Given the description of an element on the screen output the (x, y) to click on. 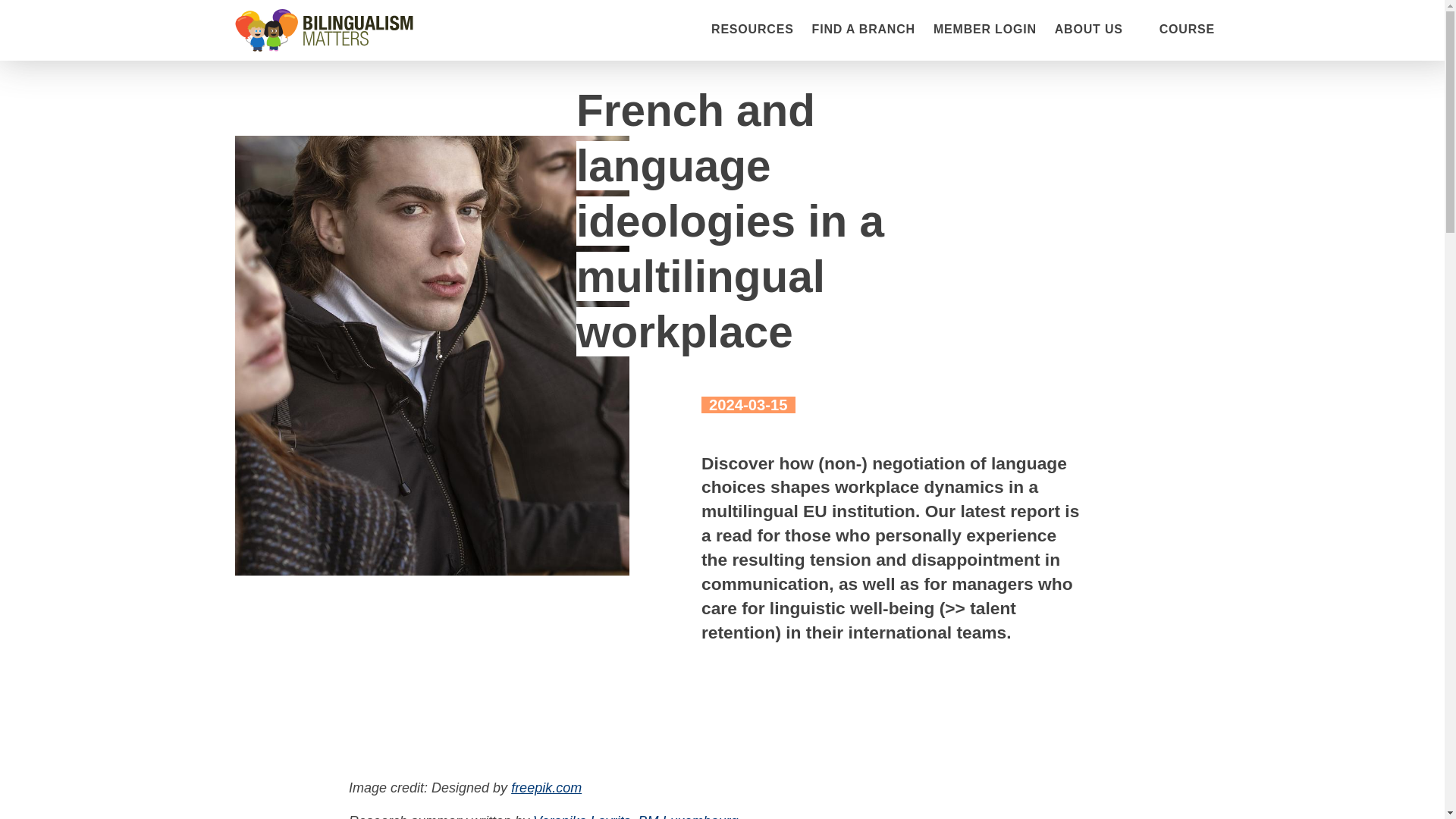
RESOURCES (751, 29)
Veronika Lovrits (581, 816)
BM Luxembourg (687, 816)
Go to Bilingualism Matters homepage (323, 30)
MEMBER LOGIN (984, 29)
freepik.com (545, 787)
COURSE (1186, 29)
ABOUT US (1088, 29)
FIND A BRANCH (863, 29)
